Given the description of an element on the screen output the (x, y) to click on. 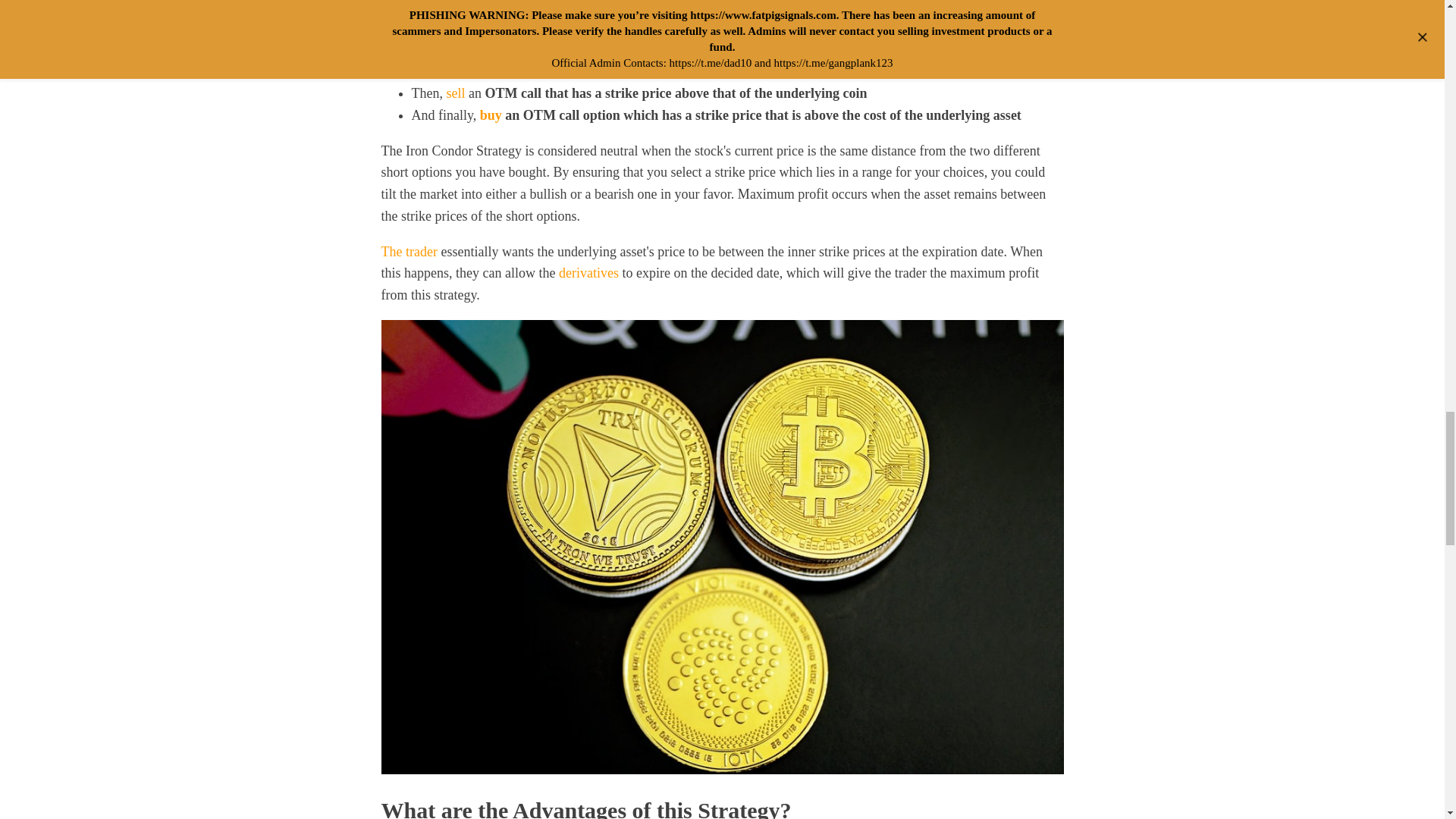
derivatives (588, 272)
buy (491, 114)
strike price (737, 48)
sell (454, 92)
The trader (408, 251)
